Given the description of an element on the screen output the (x, y) to click on. 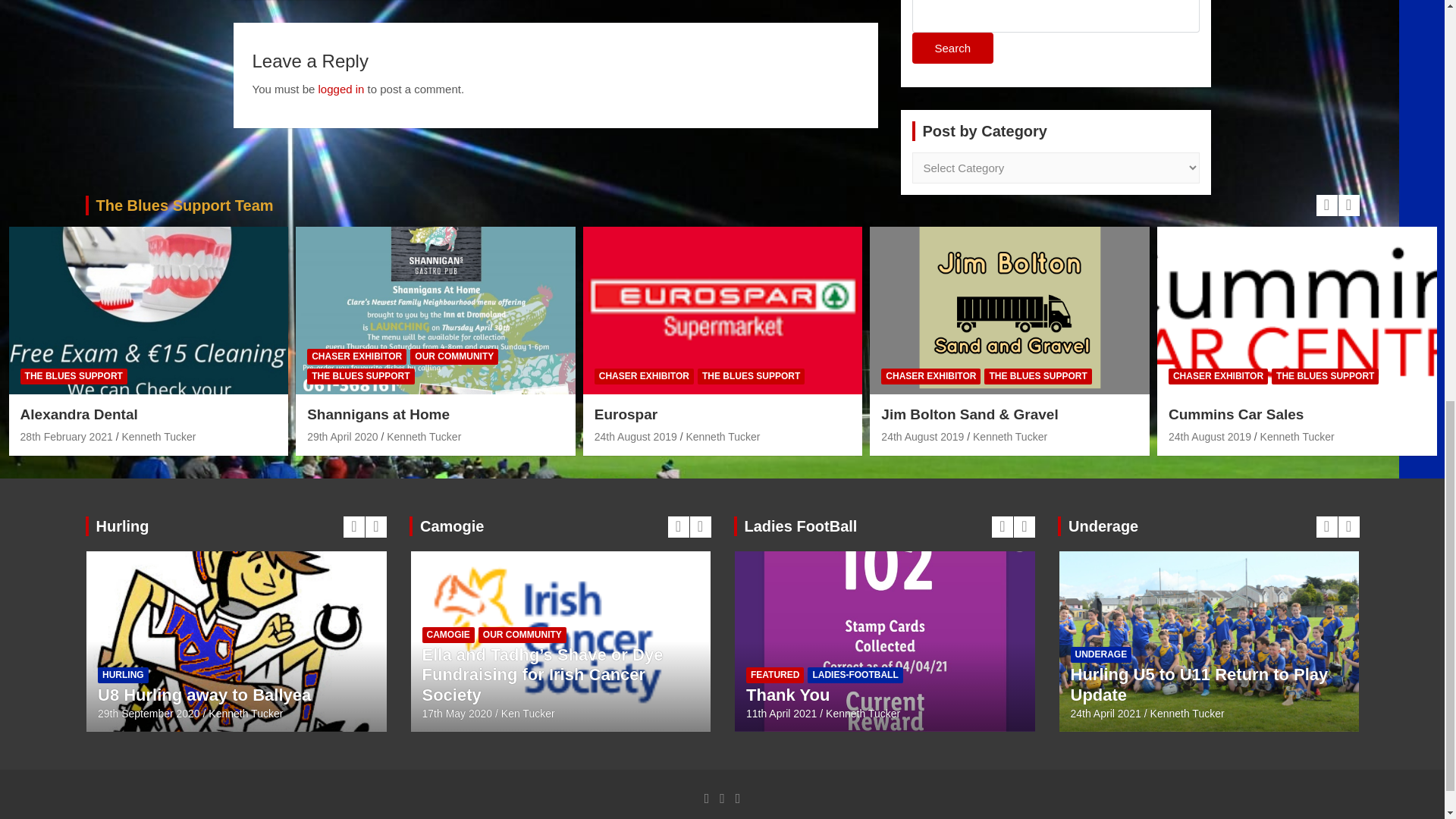
Search (951, 47)
Search (951, 47)
Alexandra Dental (66, 436)
Shannigans at Home (342, 436)
Search (951, 47)
logged in (341, 88)
Cummins Car Sales (1209, 436)
Eurospar (635, 436)
